Given the description of an element on the screen output the (x, y) to click on. 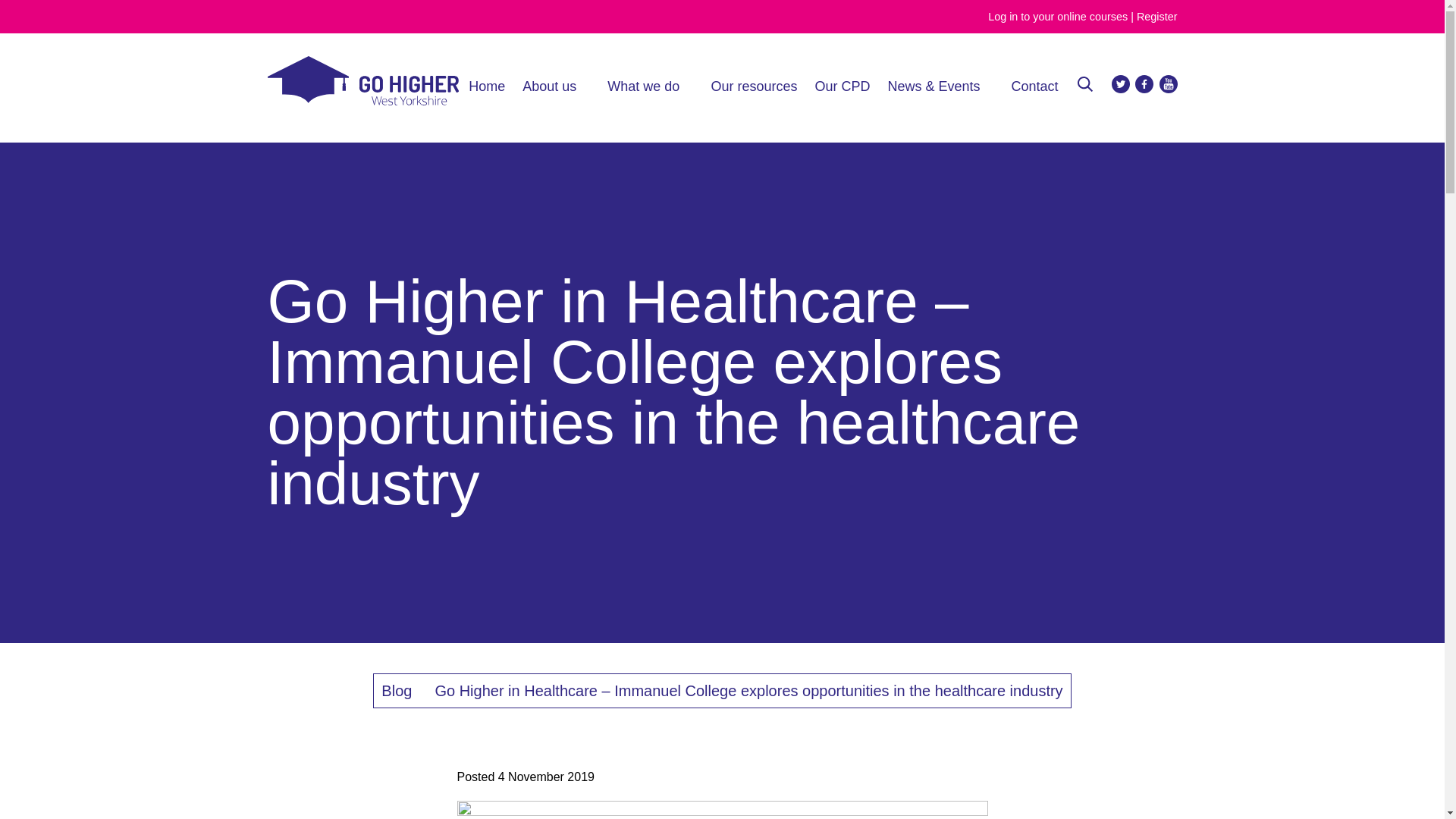
Go Higher West Yorkshire (362, 101)
Go to News. (396, 690)
Contact (1034, 86)
Our CPD (841, 86)
Blog (396, 690)
Our resources (753, 86)
